Given the description of an element on the screen output the (x, y) to click on. 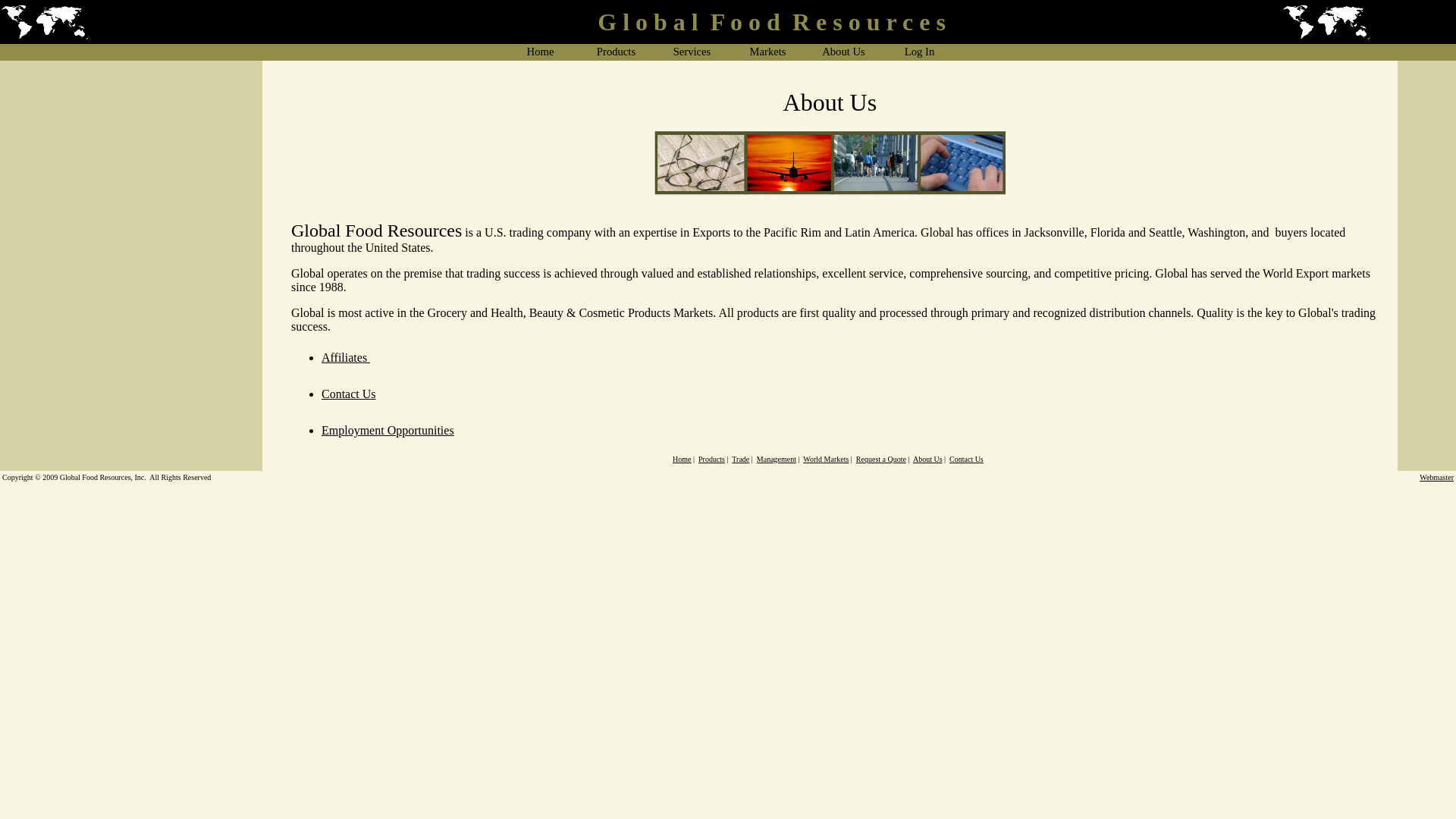
About Us Element type: text (927, 459)
Request a Quote Element type: text (881, 459)
Trade Element type: text (740, 459)
Products Element type: text (711, 459)
Management Element type: text (776, 459)
World Markets Element type: text (825, 459)
Contact Us Element type: text (348, 393)
Home Element type: text (681, 459)
Webmaster Element type: text (1436, 477)
Affiliates  Element type: text (345, 357)
Contact Us Element type: text (966, 459)
Employment Opportunities Element type: text (387, 429)
